Given the description of an element on the screen output the (x, y) to click on. 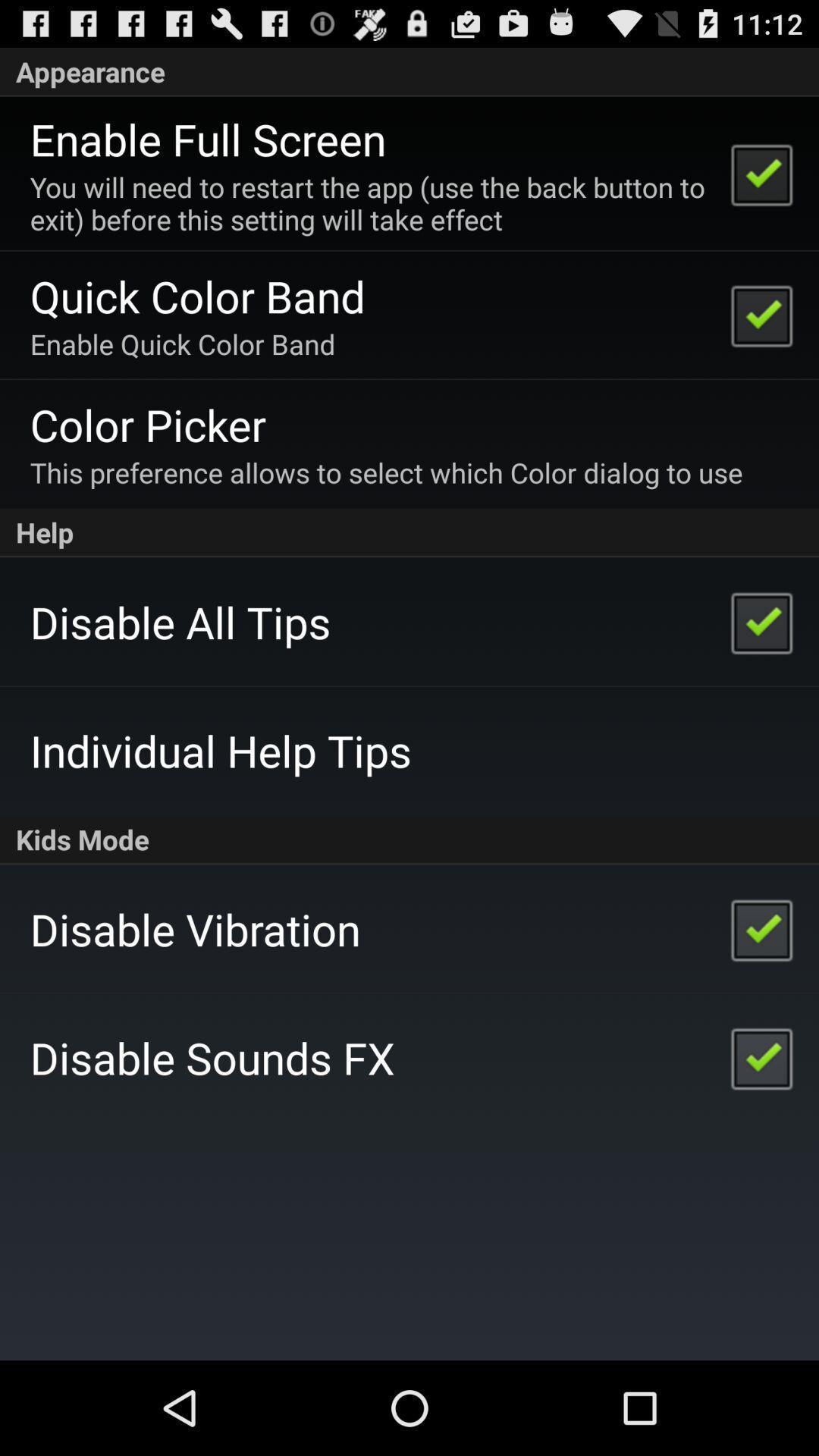
swipe until enable full screen (208, 138)
